Given the description of an element on the screen output the (x, y) to click on. 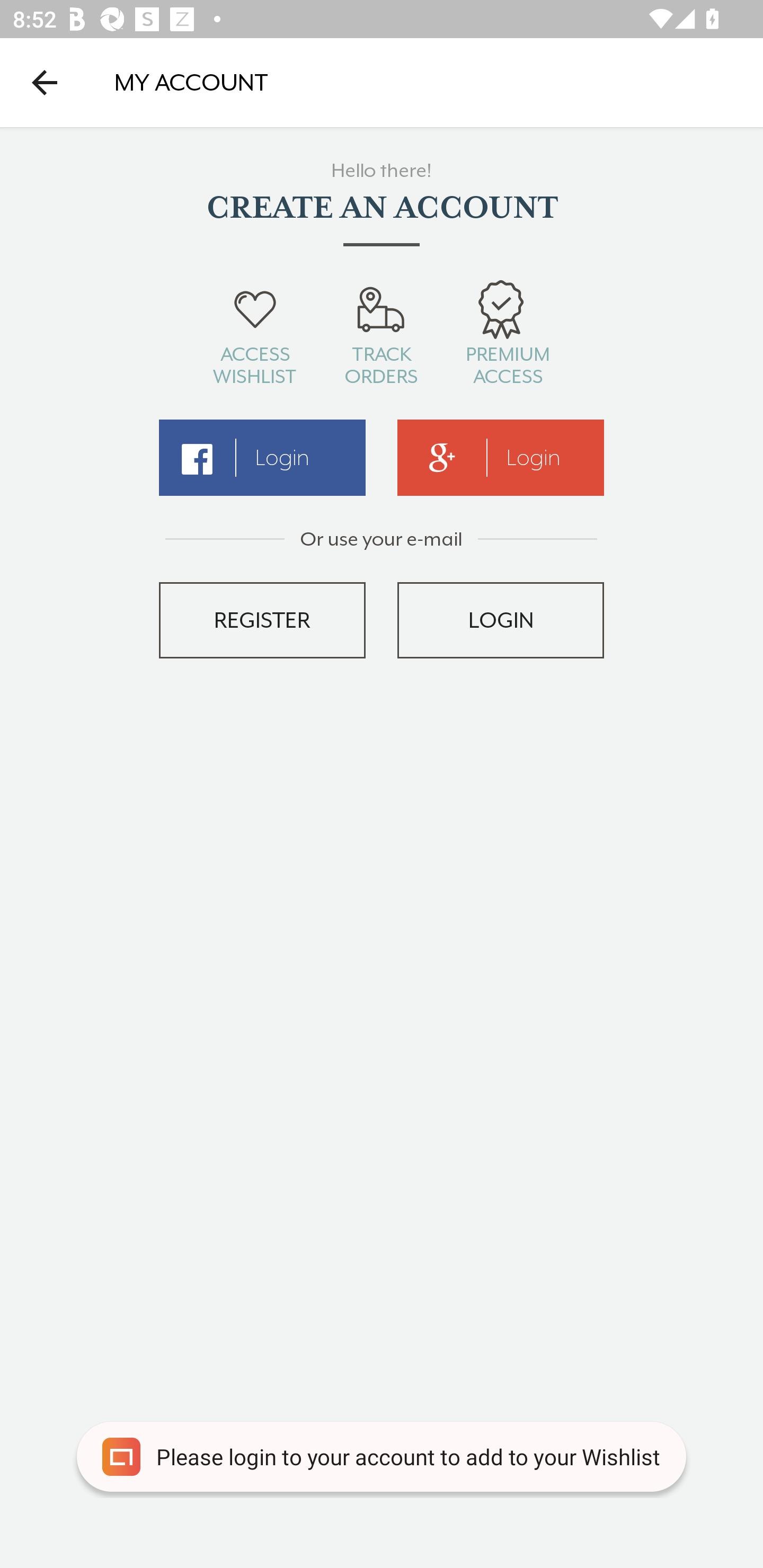
Navigate up (44, 82)
 Login (261, 457)
Login (500, 457)
REGISTER (261, 619)
LOGIN (500, 619)
